Given the description of an element on the screen output the (x, y) to click on. 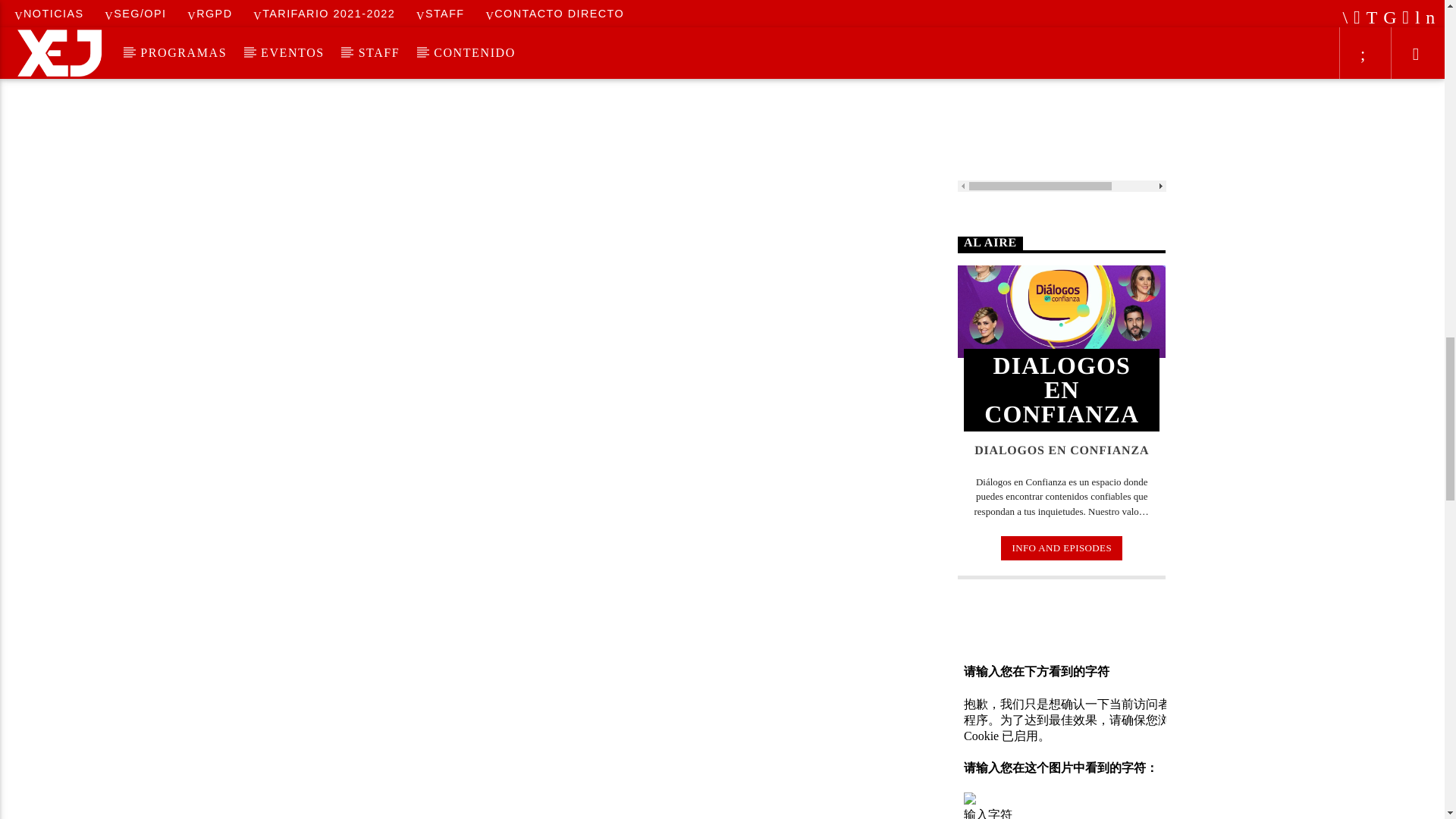
Consola Xbox Series S (1062, 95)
